Given the description of an element on the screen output the (x, y) to click on. 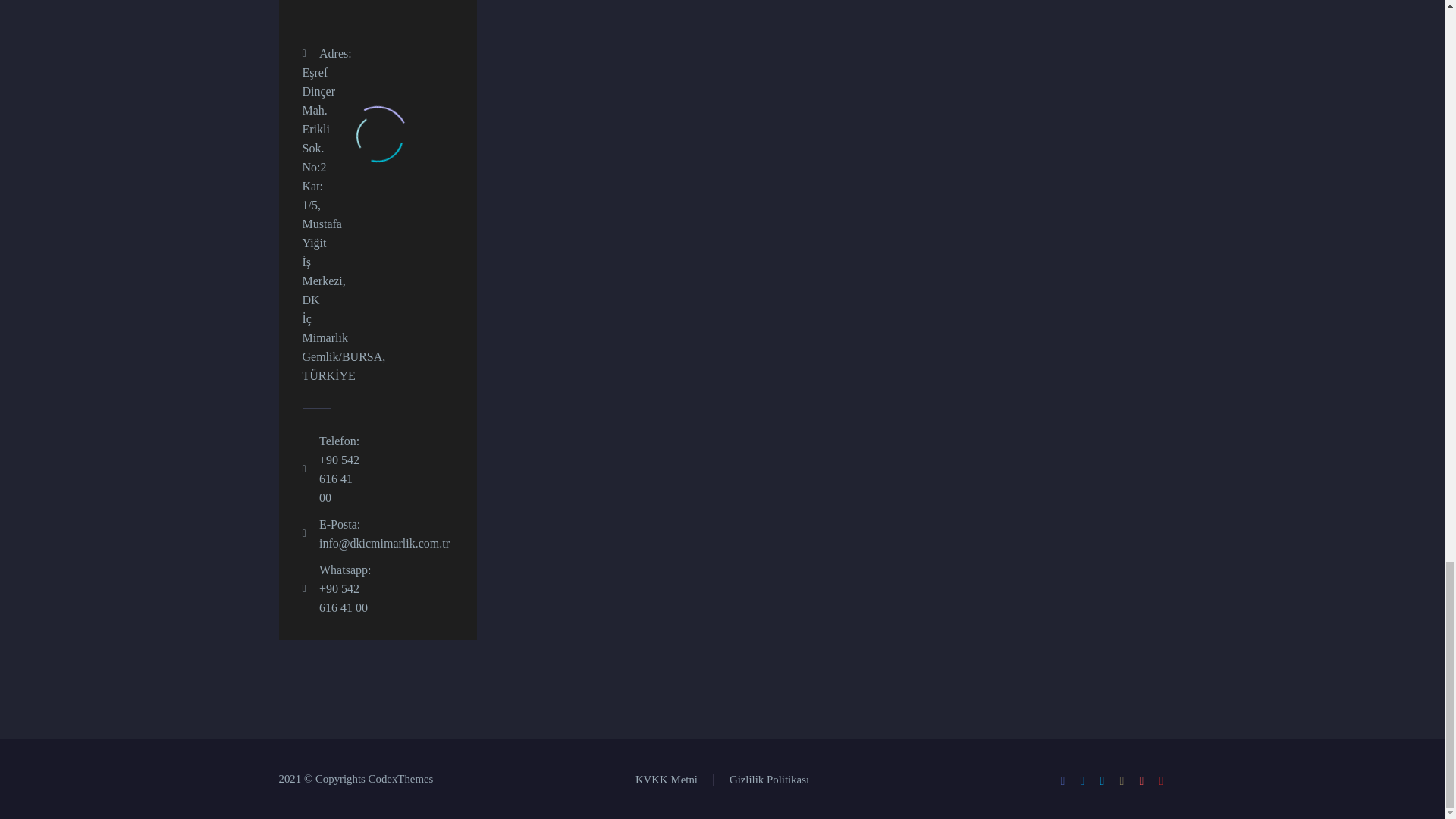
Facebook (1062, 780)
Twitter (1102, 780)
LinkedIn (1083, 780)
YouTube (1161, 780)
Instagram (1122, 780)
Pinterest (1141, 780)
